Given the description of an element on the screen output the (x, y) to click on. 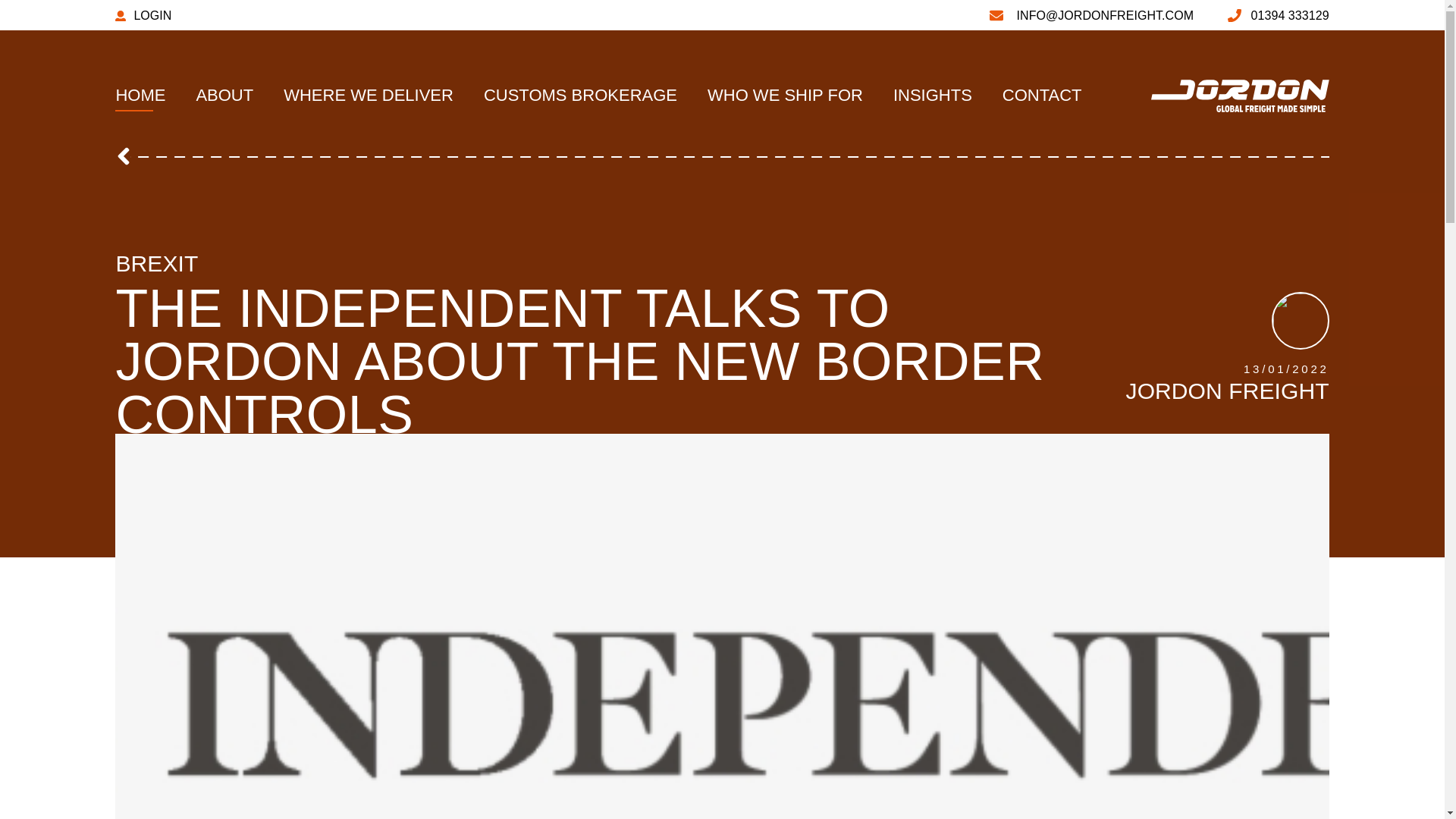
CUSTOMS BROKERAGE (580, 94)
01394 333129 (1278, 15)
ABOUT (224, 94)
HOME (140, 94)
WHERE WE DELIVER (367, 94)
LOGIN (143, 15)
